Given the description of an element on the screen output the (x, y) to click on. 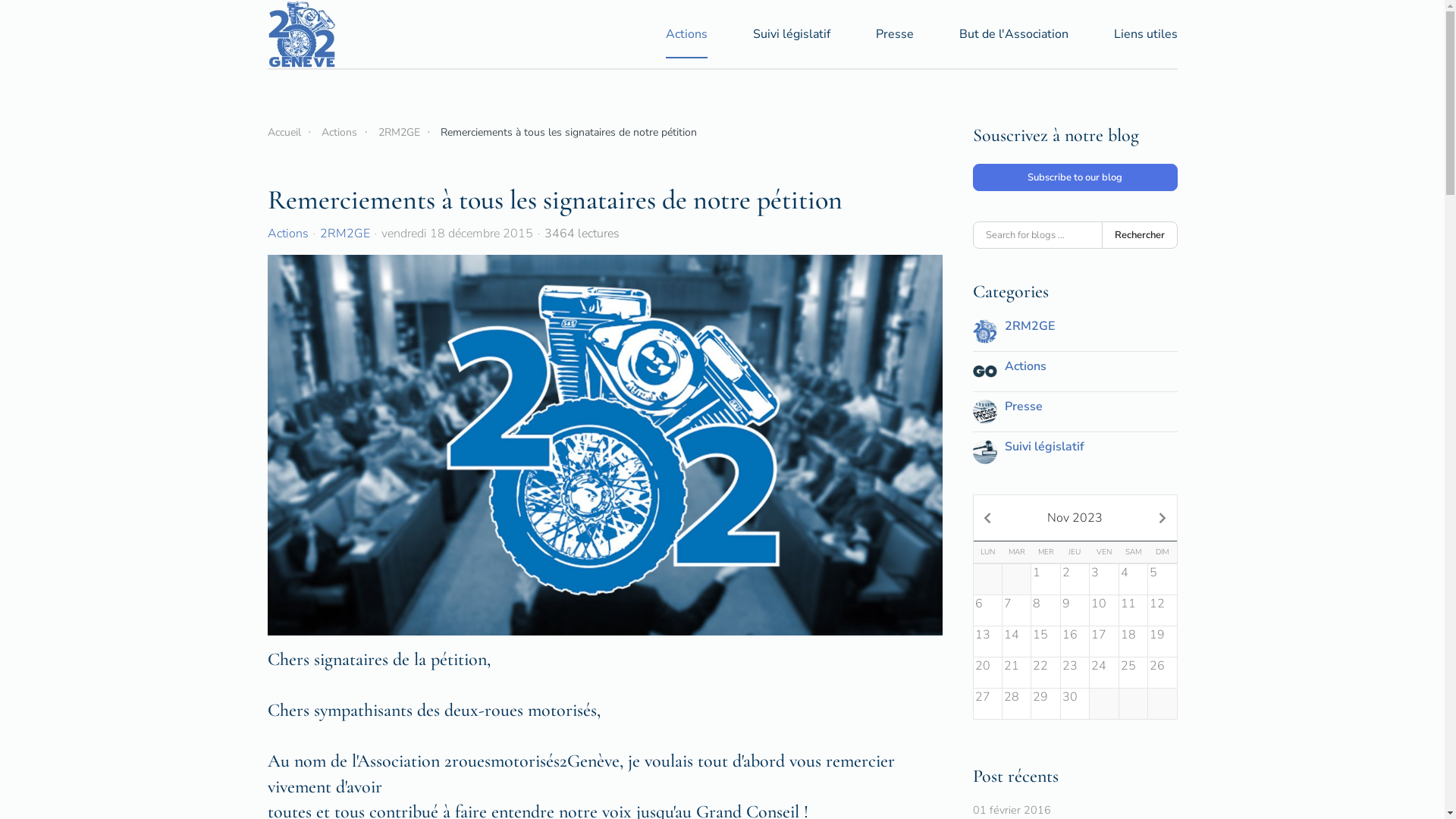
Accueil Element type: text (283, 132)
22 Element type: text (1045, 672)
21 Element type: text (1016, 672)
2 Element type: text (1074, 579)
9 Element type: text (1074, 610)
6 Element type: text (987, 610)
27 Element type: text (987, 703)
Liens utiles Element type: text (1144, 33)
18 Element type: text (1133, 641)
Rechercher Element type: text (1138, 234)
2RM2GE Element type: text (1029, 325)
16 Element type: text (1074, 641)
Presse Element type: text (1022, 406)
28 Element type: text (1016, 703)
Actions Element type: text (286, 233)
Subscribe to our blog Element type: text (1074, 177)
4 Element type: text (1133, 579)
17 Element type: text (1103, 641)
Actions Element type: text (1024, 365)
1 Element type: text (1045, 579)
2RM2GE Element type: text (398, 132)
26 Element type: text (1162, 672)
15 Element type: text (1045, 641)
20 Element type: text (987, 672)
23 Element type: text (1074, 672)
29 Element type: text (1045, 703)
13 Element type: text (987, 641)
3 Element type: text (1103, 579)
24 Element type: text (1103, 672)
19 Element type: text (1162, 641)
25 Element type: text (1133, 672)
12 Element type: text (1162, 610)
5 Element type: text (1162, 579)
Presse Element type: text (894, 33)
Actions Element type: text (339, 132)
11 Element type: text (1133, 610)
But de l'Association Element type: text (1012, 33)
30 Element type: text (1074, 703)
10 Element type: text (1103, 610)
Nov 2023 Element type: text (1074, 517)
7 Element type: text (1016, 610)
8 Element type: text (1045, 610)
2RM2GE Element type: text (345, 233)
14 Element type: text (1016, 641)
Actions Element type: text (686, 33)
